Given the description of an element on the screen output the (x, y) to click on. 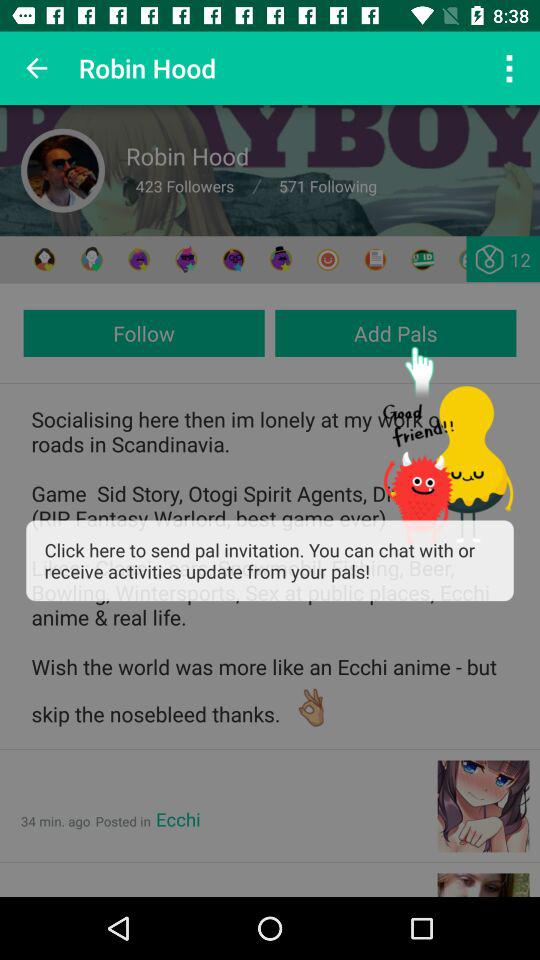
view profile picture (63, 170)
